Given the description of an element on the screen output the (x, y) to click on. 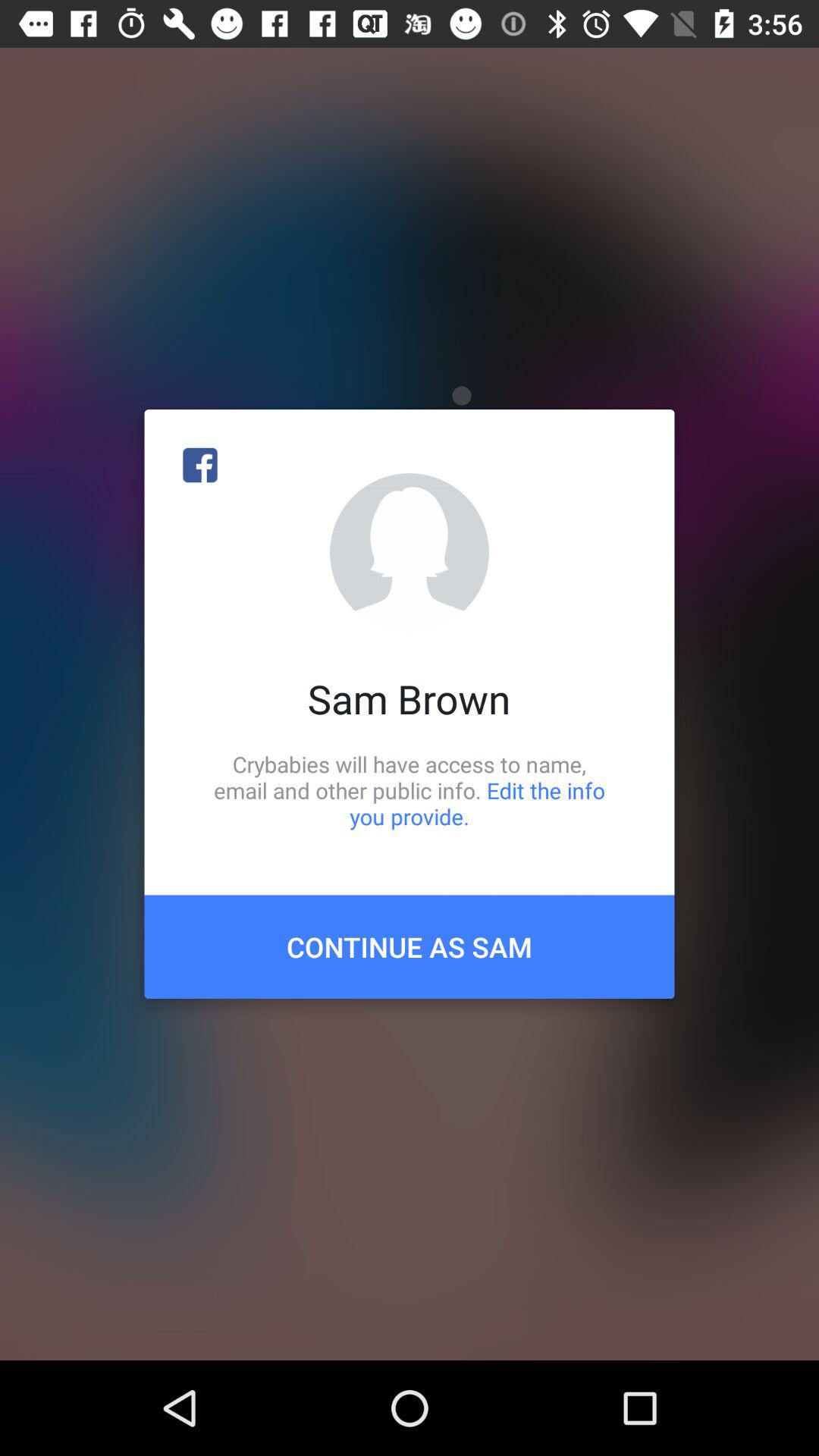
scroll until the continue as sam icon (409, 946)
